Given the description of an element on the screen output the (x, y) to click on. 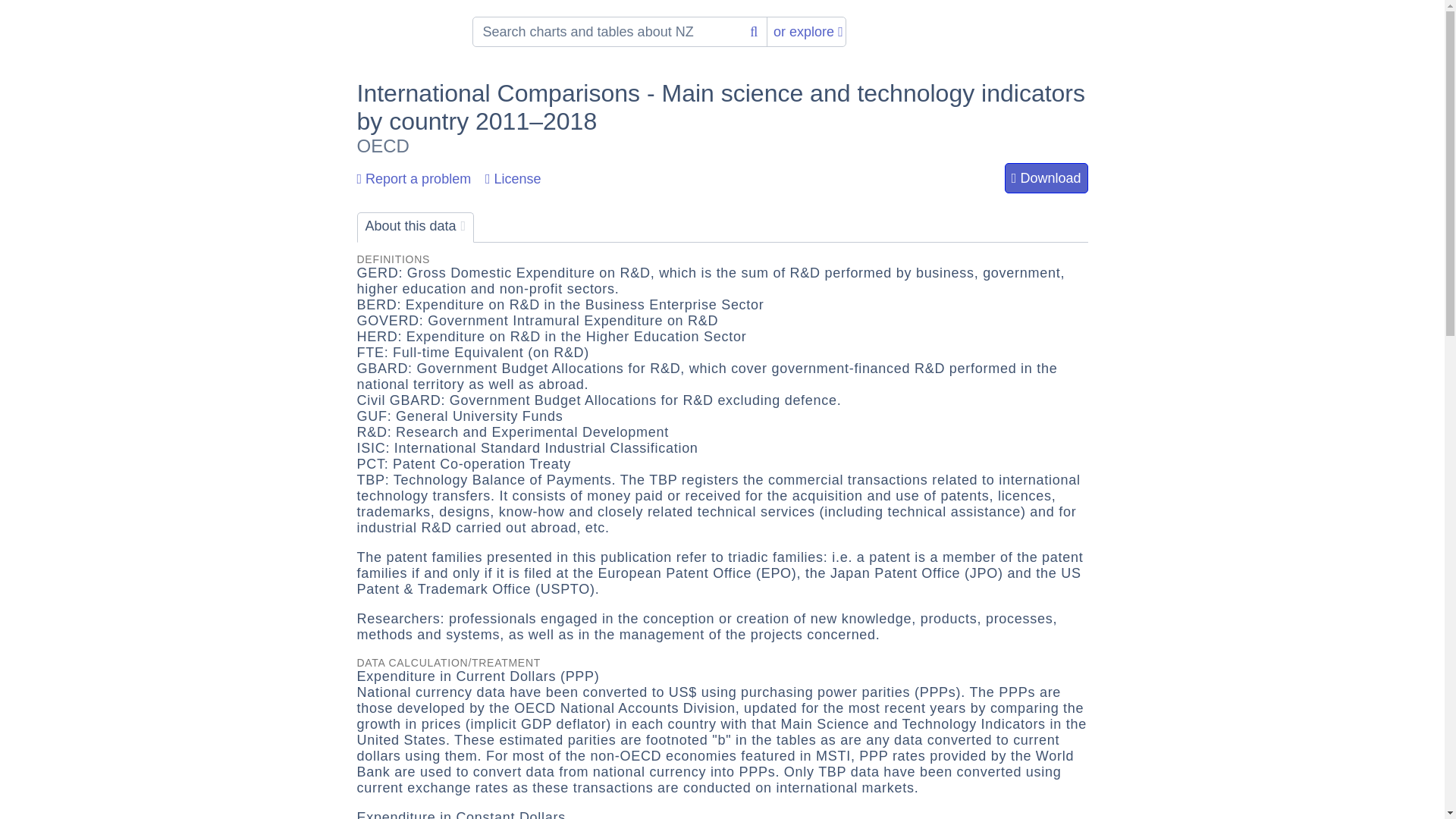
Download (1045, 177)
Report a problem (413, 178)
or explore (808, 31)
Figure.nz (400, 29)
About this data (416, 226)
License (512, 178)
